Given the description of an element on the screen output the (x, y) to click on. 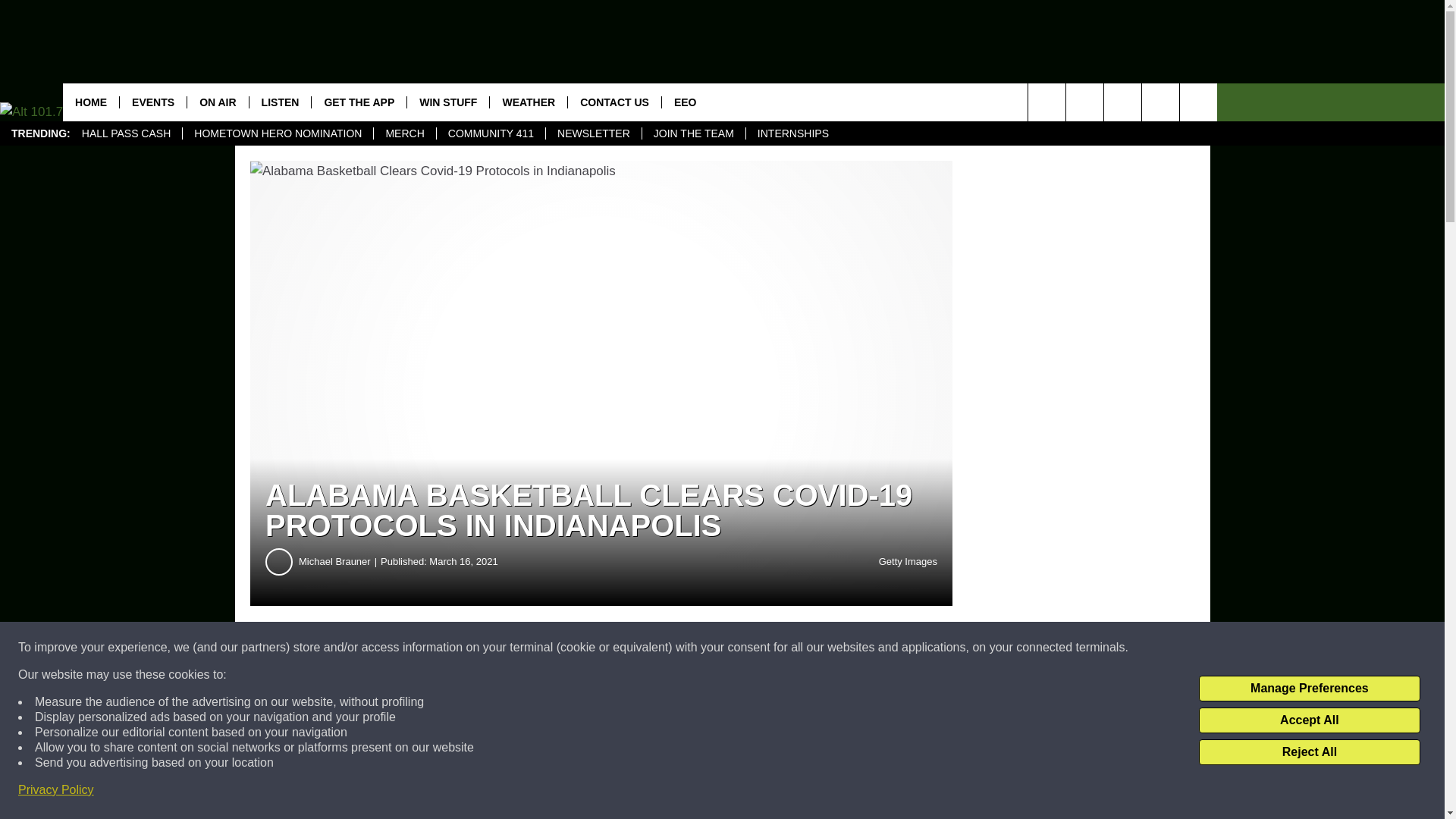
Privacy Policy (55, 789)
Manage Preferences (1309, 688)
HALL PASS CASH (126, 133)
Share on Twitter (741, 647)
HOMETOWN HERO NOMINATION (277, 133)
WIN STUFF (447, 102)
EVENTS (152, 102)
Share on Facebook (460, 647)
JOIN THE TEAM (693, 133)
Accept All (1309, 720)
